Given the description of an element on the screen output the (x, y) to click on. 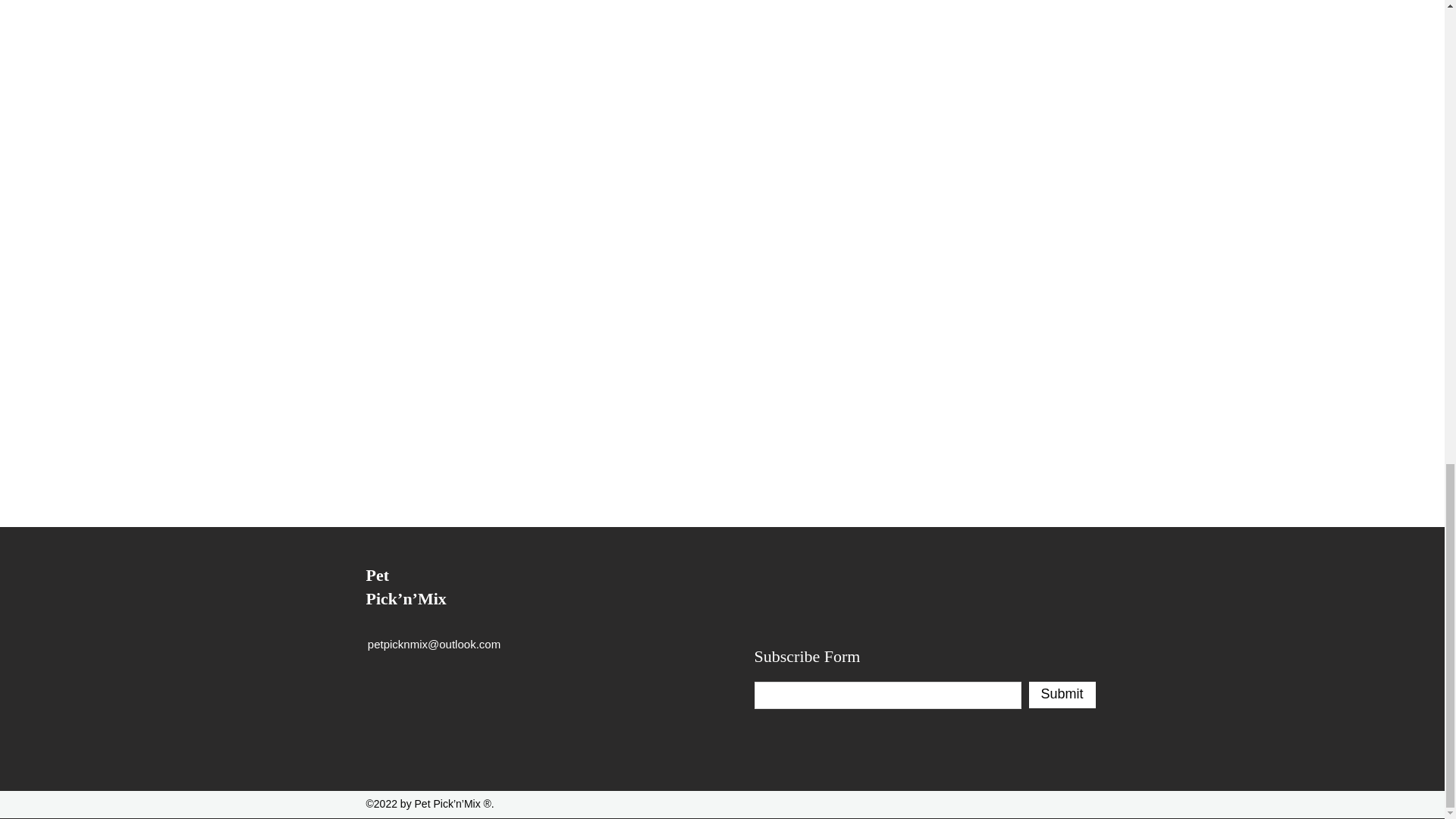
Submit (1060, 694)
